Given the description of an element on the screen output the (x, y) to click on. 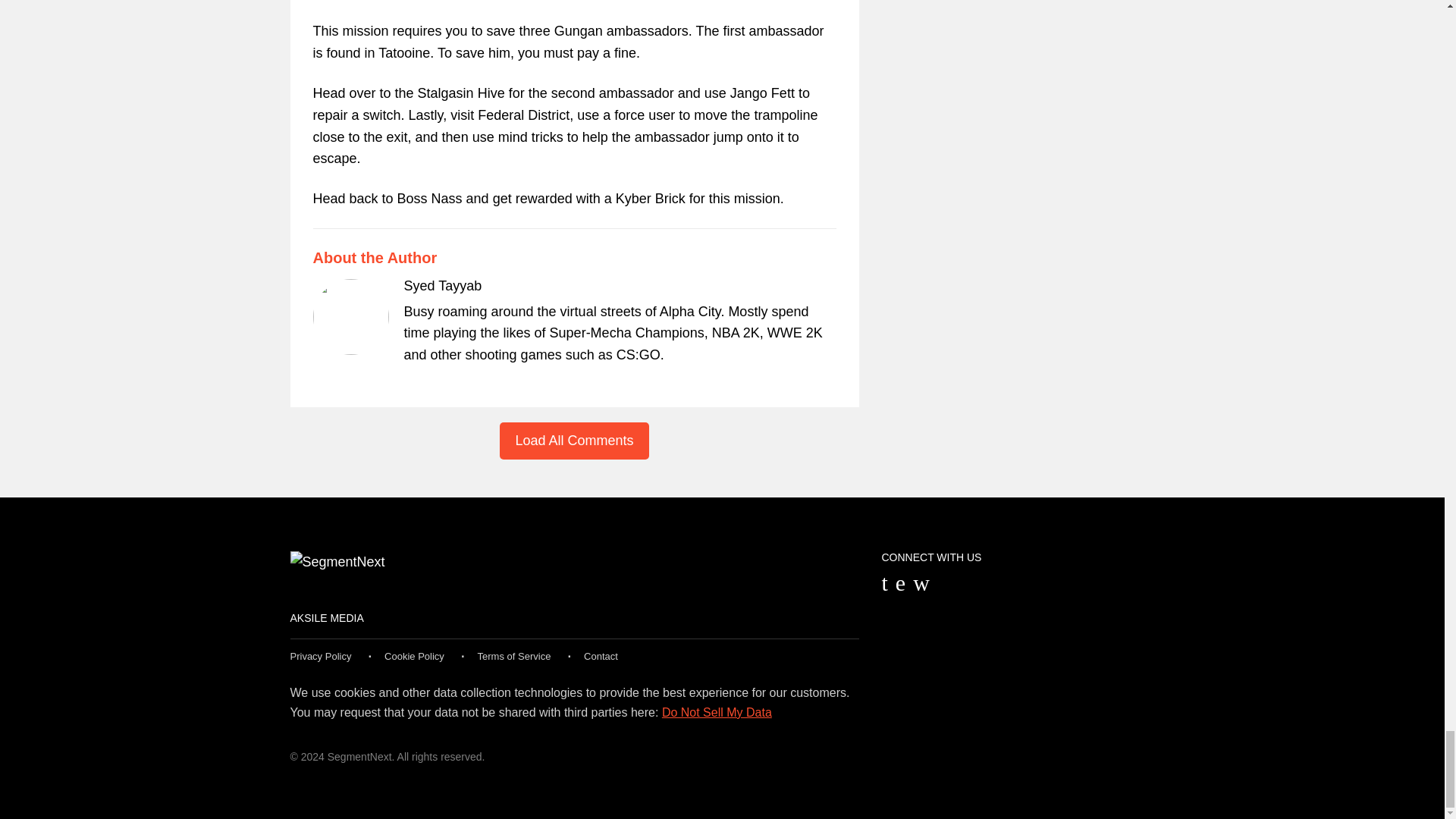
Terms of Service (514, 655)
Privacy Policy (319, 655)
Load All Comments (573, 440)
Cookie Policy (414, 655)
Syed Tayyab (442, 285)
Syed Tayyab (442, 285)
